Given the description of an element on the screen output the (x, y) to click on. 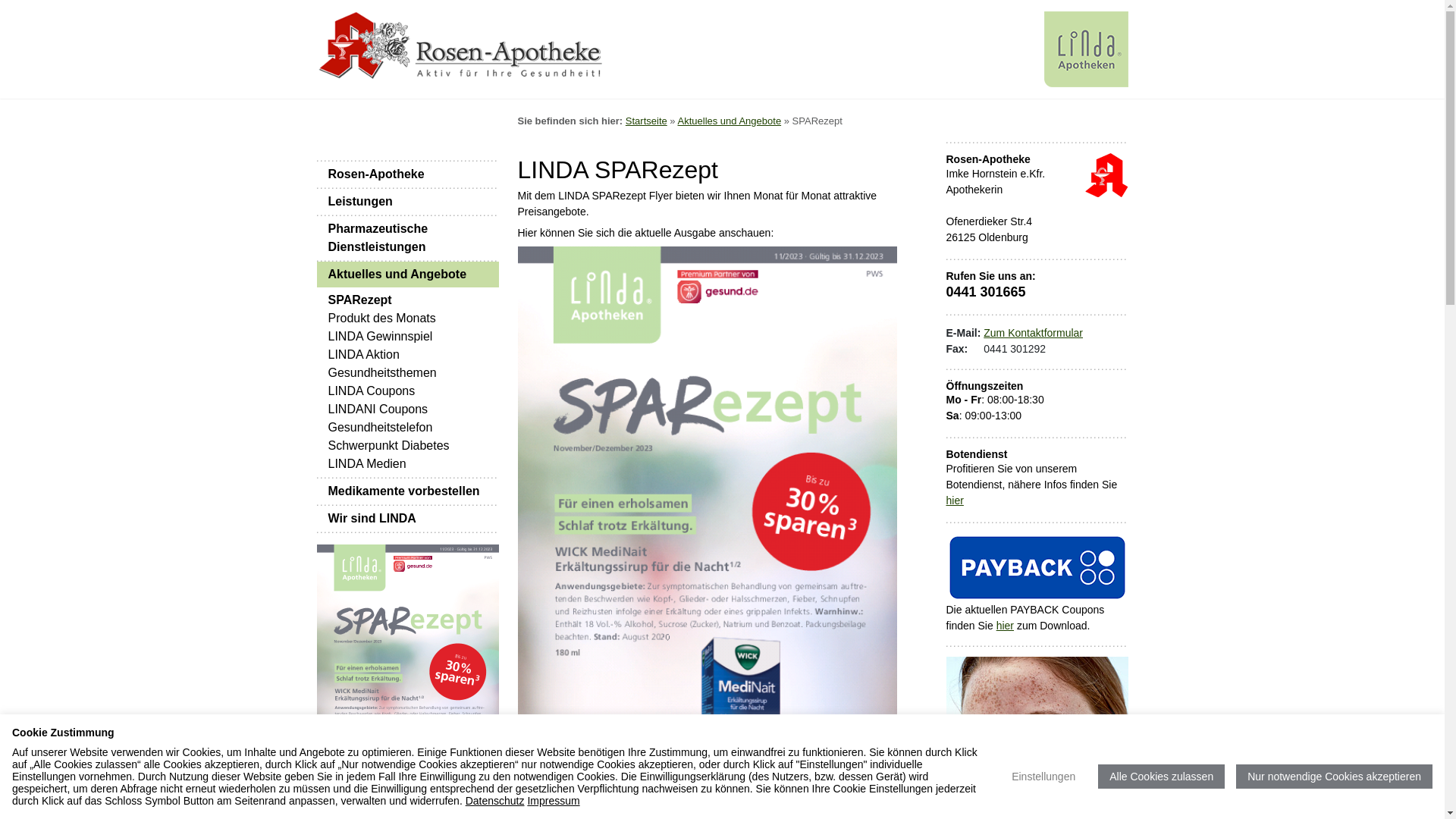
LINDANI Coupons Element type: text (377, 408)
LINDA Coupons Element type: text (370, 390)
LINDA Aktion Element type: text (362, 354)
LINDA Gewinnspiel Element type: text (379, 335)
Rosen-Apotheke Element type: hover (487, 45)
Gesundheitstelefon Element type: text (379, 426)
Pharmazeutische Dienstleistungen Element type: text (407, 238)
Rosen-Apotheke Element type: hover (1105, 175)
Rosen-Apotheke Element type: text (407, 174)
Wir sind LINDA Element type: text (407, 518)
Zum Kontaktformular Element type: text (1032, 332)
SPARezept Element type: hover (407, 695)
Payback Element type: hover (1037, 566)
Impressum Element type: text (553, 800)
Gesundheitsthemen Element type: text (381, 372)
hier Element type: text (954, 500)
Aktuelles und Angebote Element type: text (729, 120)
Medikamente vorbestellen Element type: text (407, 491)
Aktuelles und Angebote Element type: text (407, 274)
Leistungen Element type: text (407, 201)
Einstellungen Element type: text (1043, 776)
Datenschutz Element type: text (494, 800)
Alle Cookies zulassen Element type: text (1161, 776)
hier Element type: text (1004, 625)
Nur notwendige Cookies akzeptieren Element type: text (1334, 776)
Startseite Element type: text (646, 120)
Payback Element type: hover (1037, 567)
Schwerpunkt Diabetes Element type: text (387, 445)
Produkt des Monats Element type: text (381, 317)
LINDA Apotheken Element type: hover (1085, 49)
LINDA Medien Element type: text (366, 463)
SPARezept Element type: text (359, 299)
0441 301665 Element type: text (986, 291)
